Given the description of an element on the screen output the (x, y) to click on. 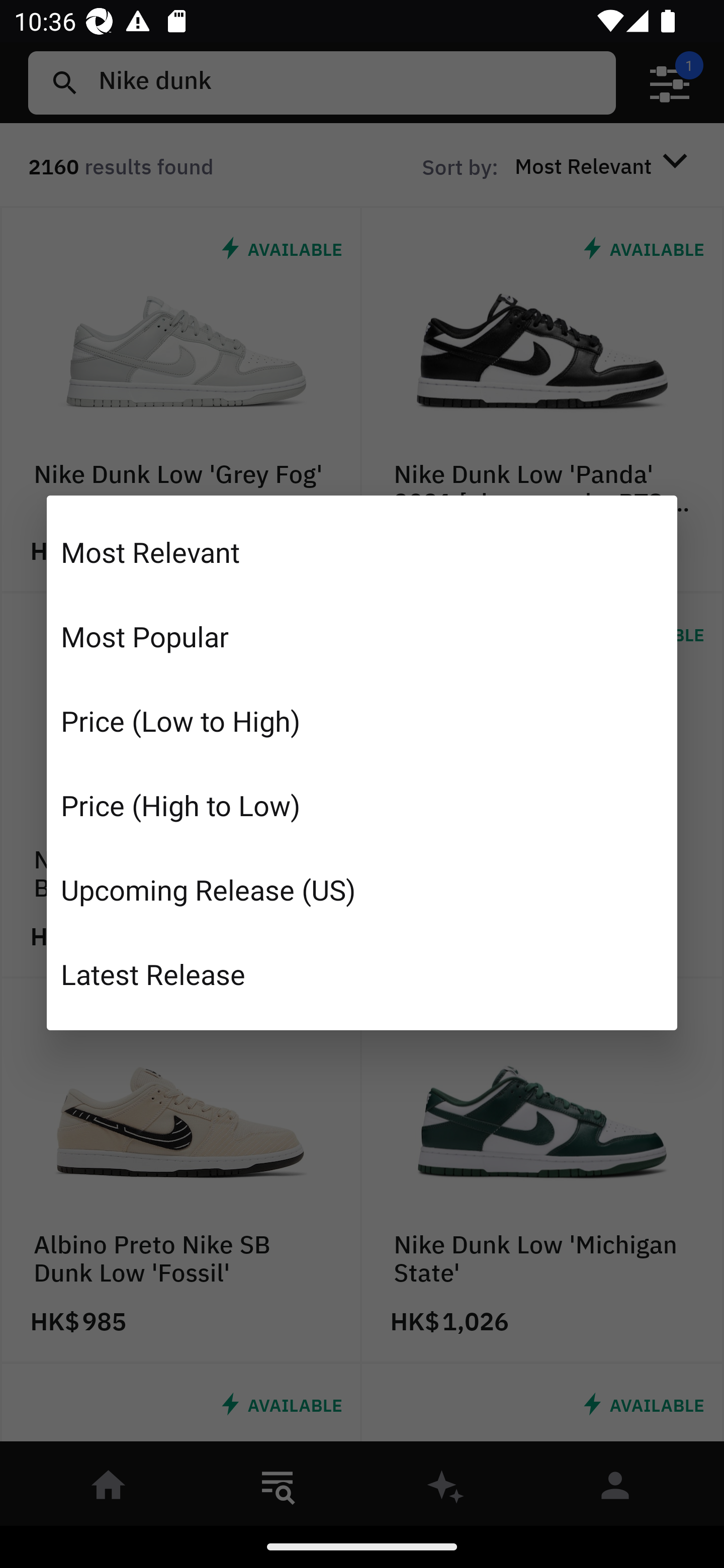
Most Relevant (361, 551)
Most Popular (361, 636)
Price (Low to High) (361, 720)
Price (High to Low) (361, 804)
Upcoming Release (US) (361, 888)
Latest Release (361, 973)
